Given the description of an element on the screen output the (x, y) to click on. 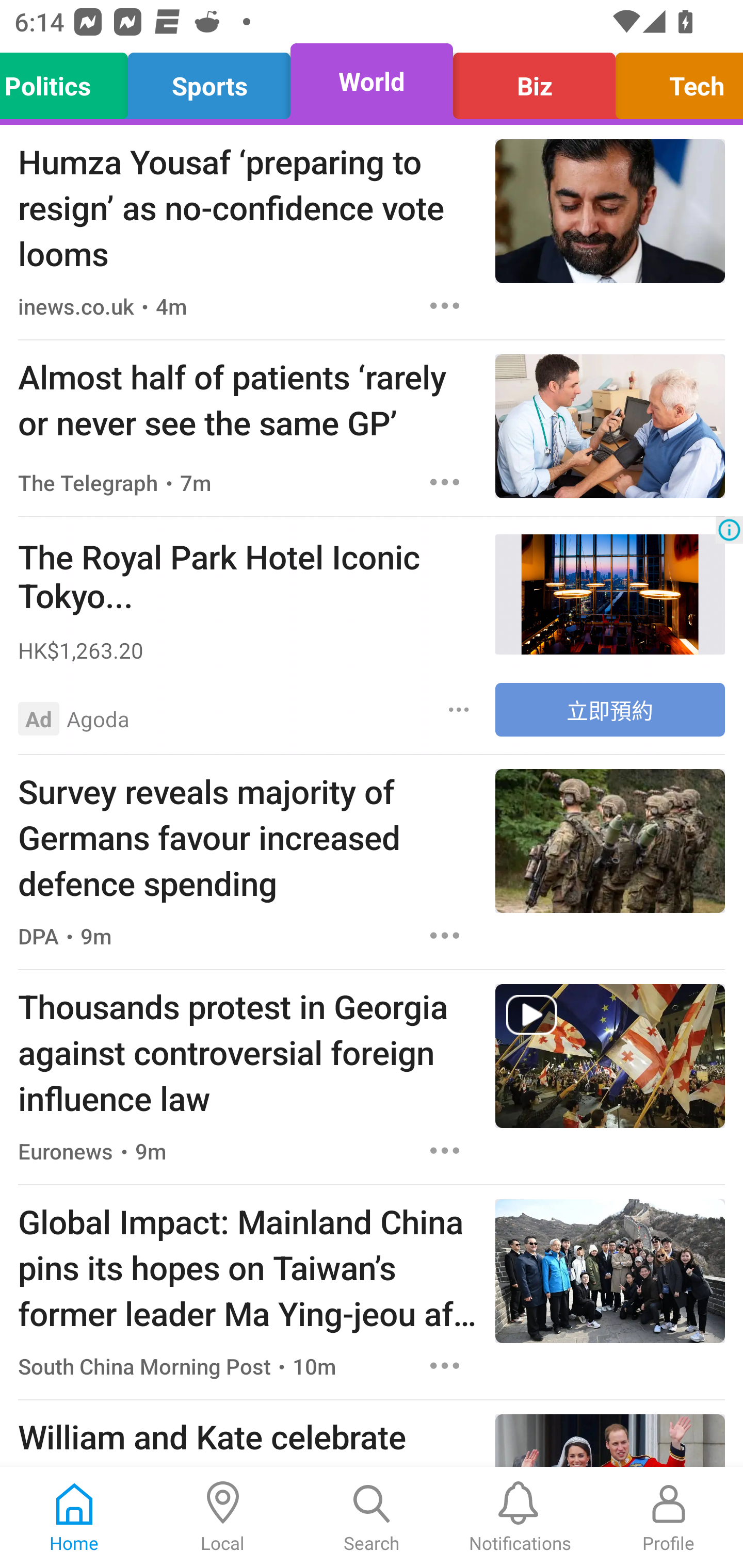
Politics (69, 81)
Sports (209, 81)
World (371, 81)
Biz (534, 81)
Tech (673, 81)
Options (444, 305)
Options (444, 481)
Ad Choices Icon (729, 529)
The Royal Park Hotel Iconic Tokyo... (247, 575)
HK$1,263.20 (247, 649)
立即預約 (610, 709)
Options (459, 709)
Agoda (97, 718)
Options (444, 936)
Options (444, 1150)
Options (444, 1365)
Local (222, 1517)
Search (371, 1517)
Notifications (519, 1517)
Profile (668, 1517)
